Given the description of an element on the screen output the (x, y) to click on. 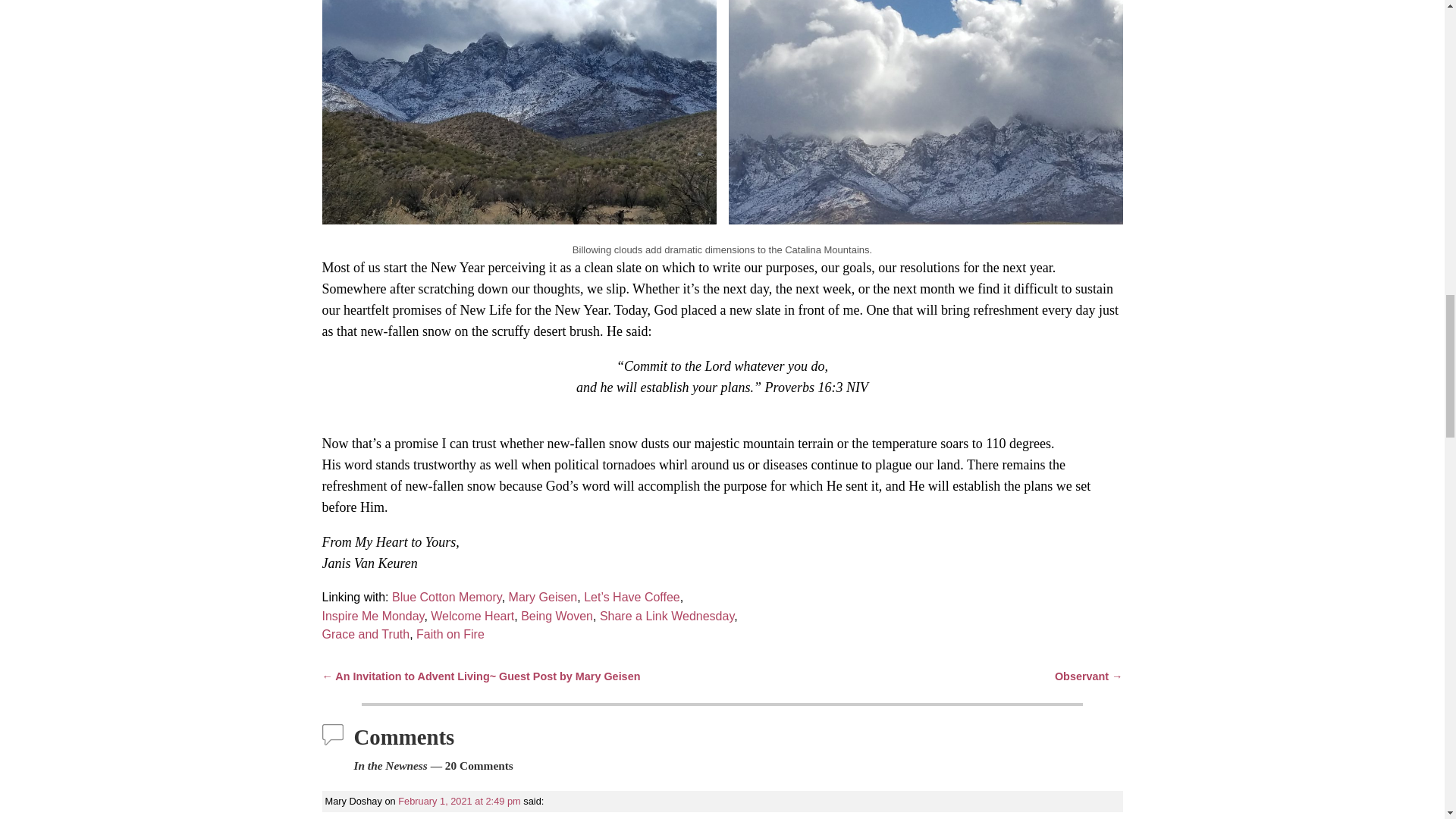
February 1, 2021 at 2:49 pm (458, 800)
Blue Cotton Memory (446, 596)
Faith on Fire (450, 634)
Mary Geisen (543, 596)
Grace and Truth (365, 634)
Share a Link Wednesday (666, 615)
Inspire Me Monday (372, 615)
Being Woven (556, 615)
Welcome Heart (470, 615)
